Given the description of an element on the screen output the (x, y) to click on. 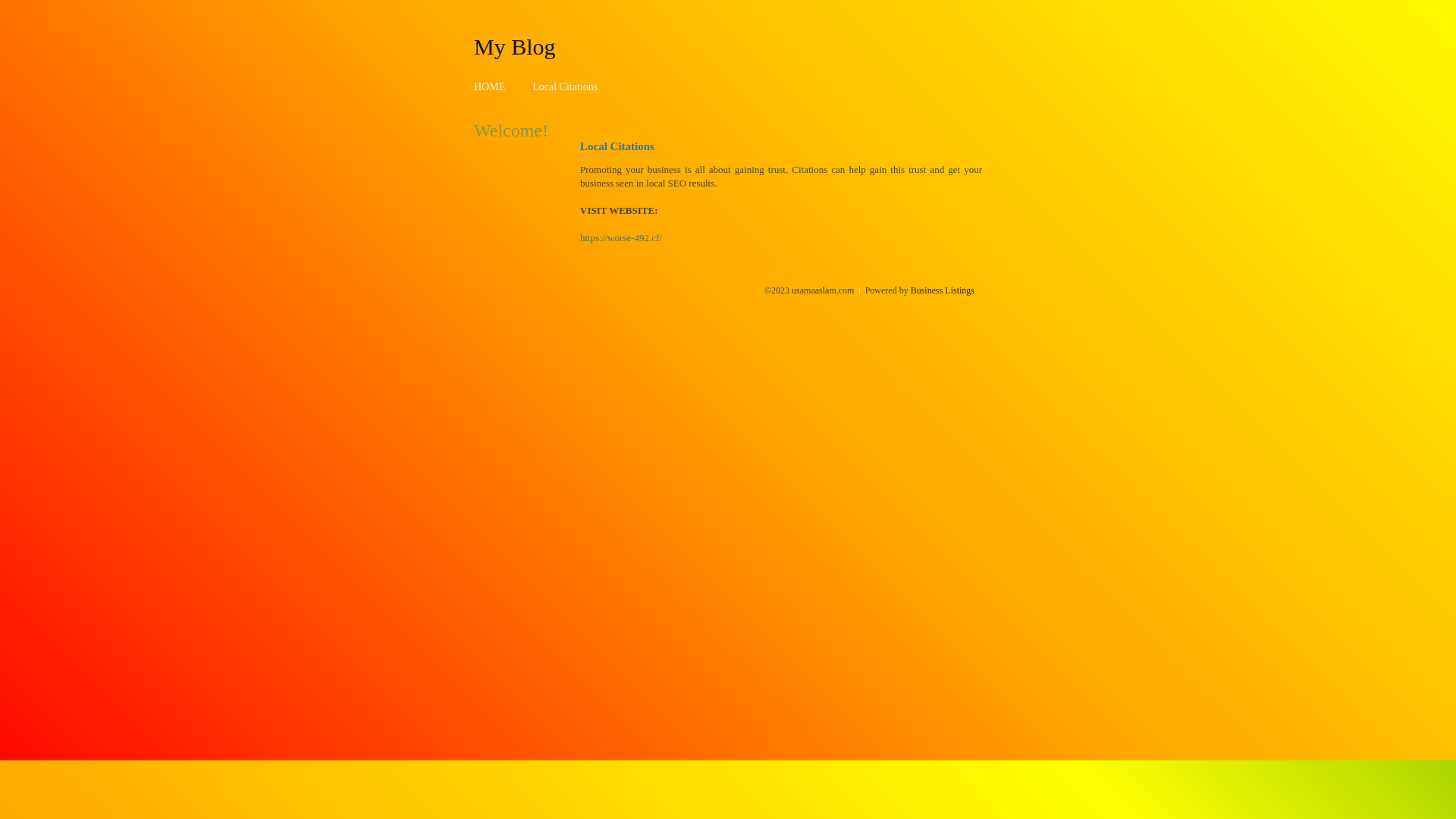
Local Citations Element type: text (564, 86)
https://worse-492.cf/ Element type: text (621, 237)
My Blog Element type: text (514, 46)
Business Listings Element type: text (942, 290)
HOME Element type: text (489, 86)
